Given the description of an element on the screen output the (x, y) to click on. 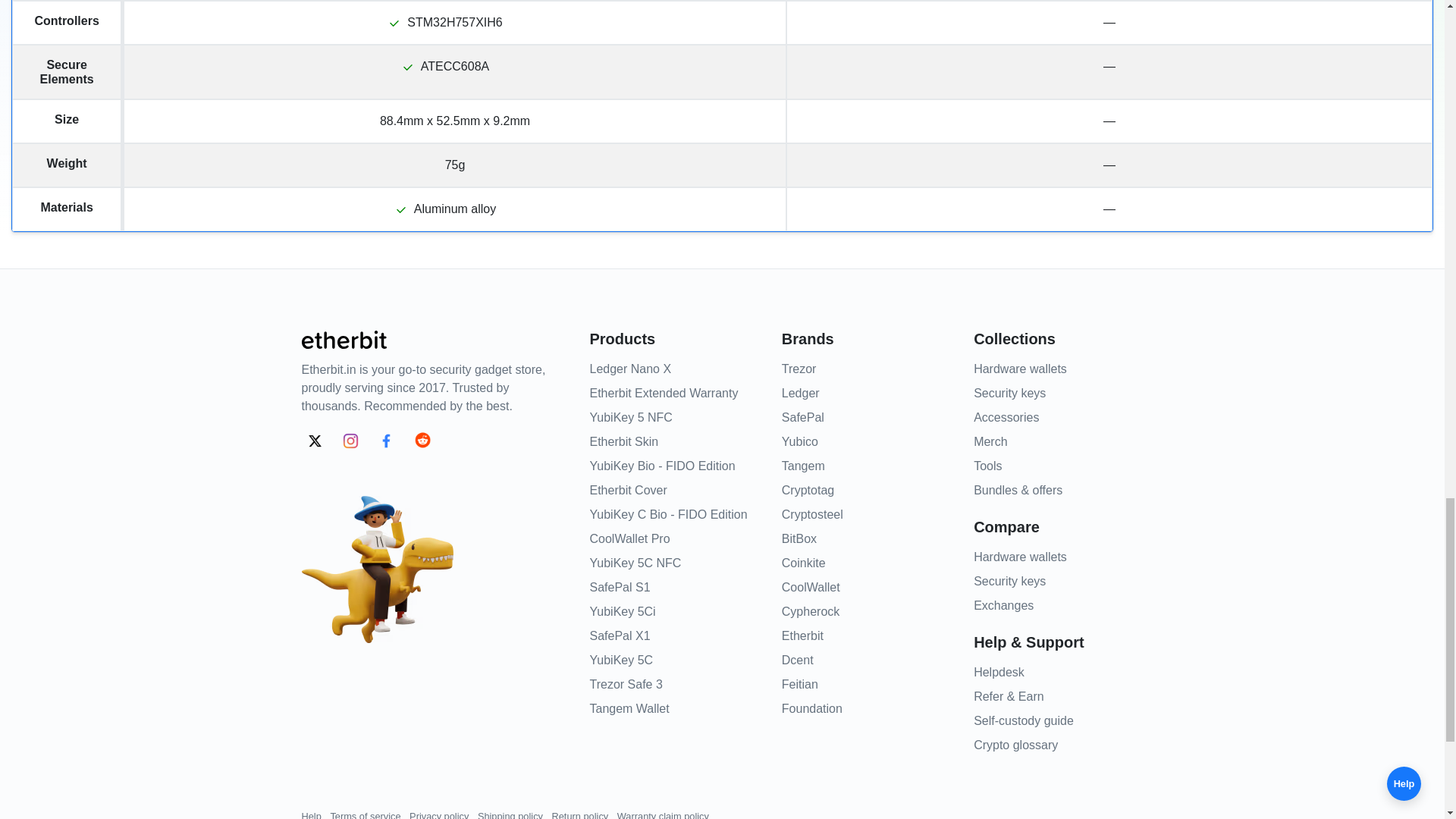
Etherbit.in homepage (344, 338)
